Given the description of an element on the screen output the (x, y) to click on. 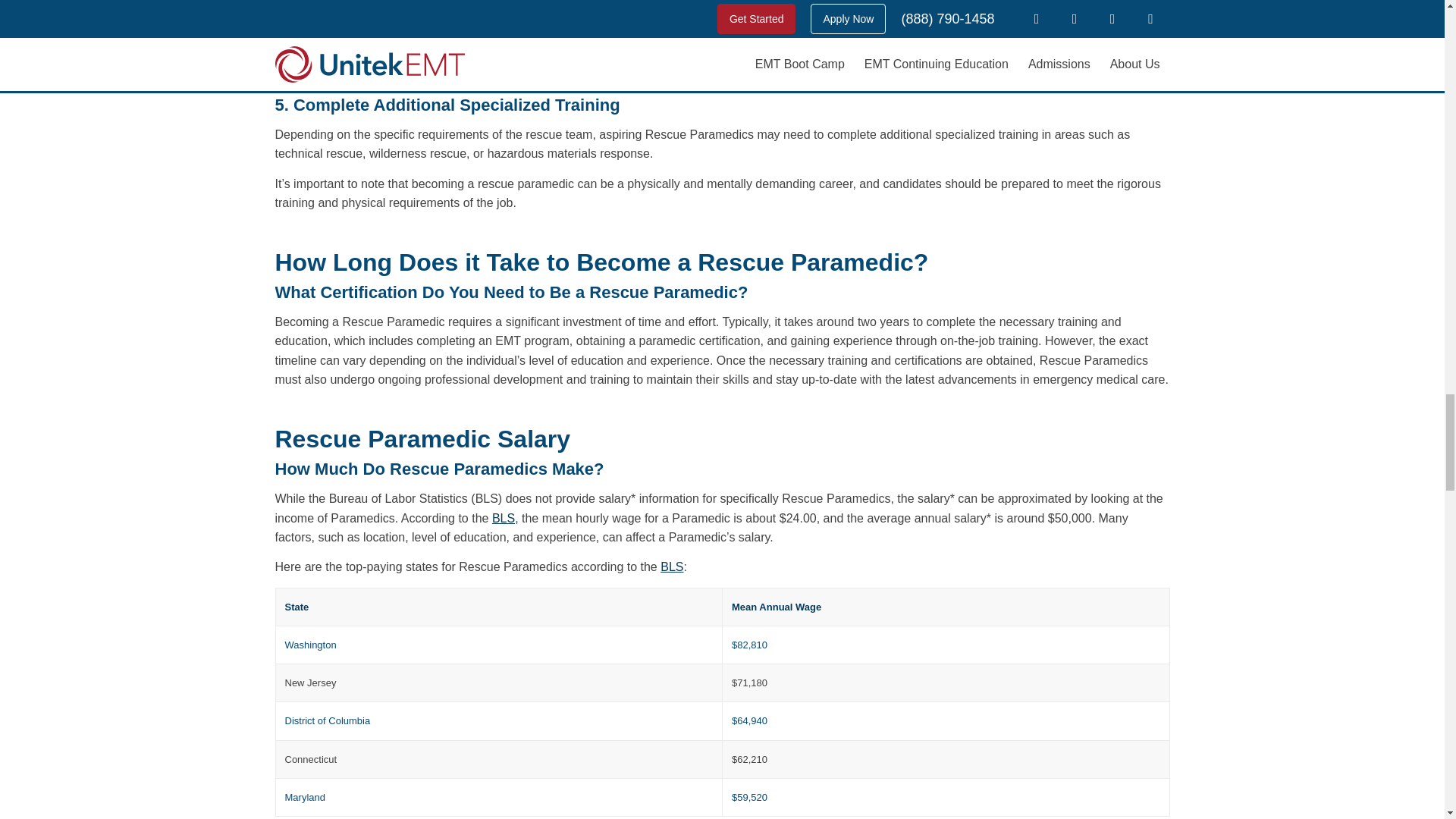
BLS (503, 517)
BLS (671, 566)
